Given the description of an element on the screen output the (x, y) to click on. 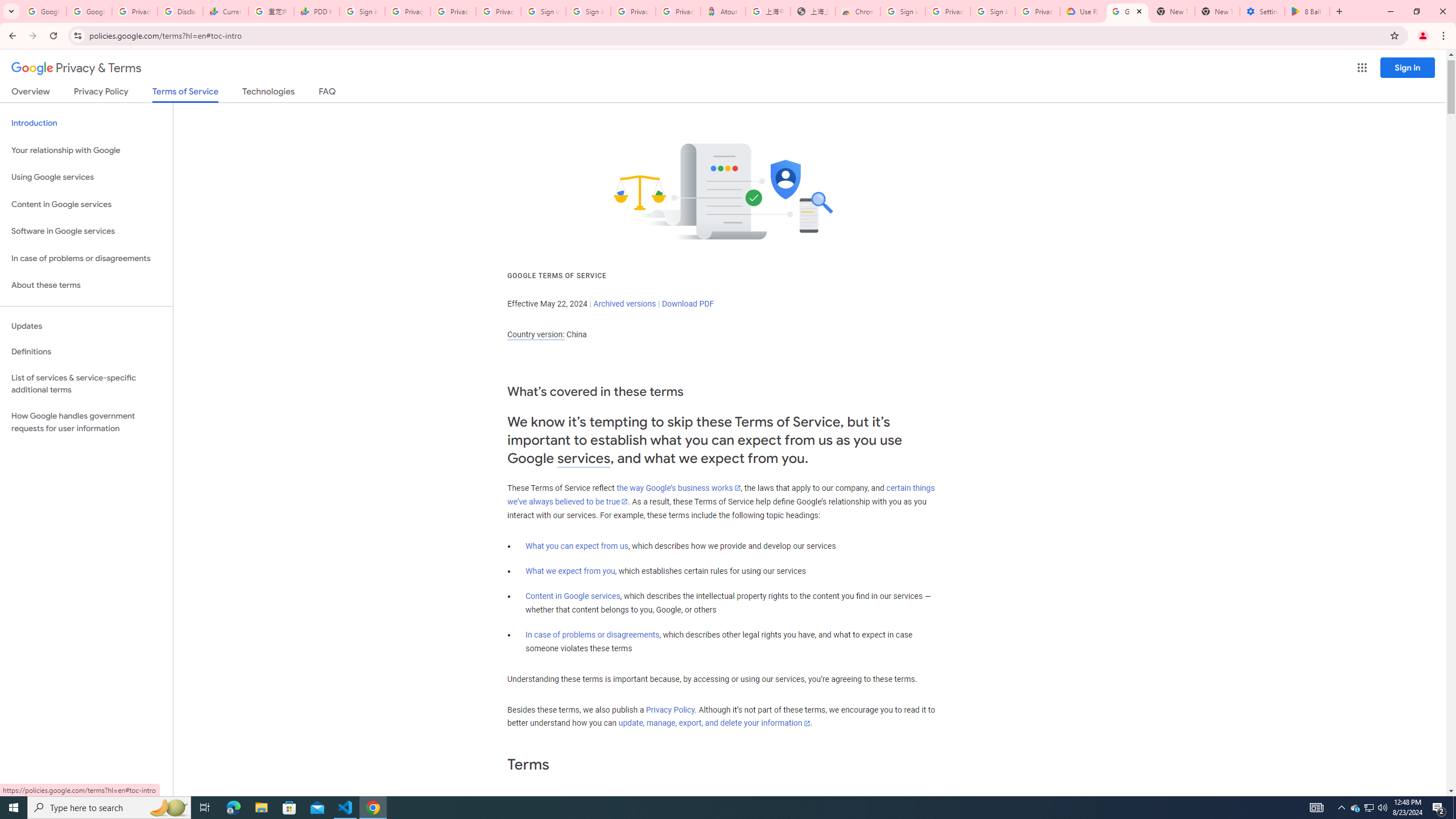
Atour Hotel - Google hotels (723, 11)
Your relationship with Google (86, 150)
Sign in - Google Accounts (902, 11)
In case of problems or disagreements (592, 634)
Using Google services (86, 176)
Sign in - Google Accounts (992, 11)
